Given the description of an element on the screen output the (x, y) to click on. 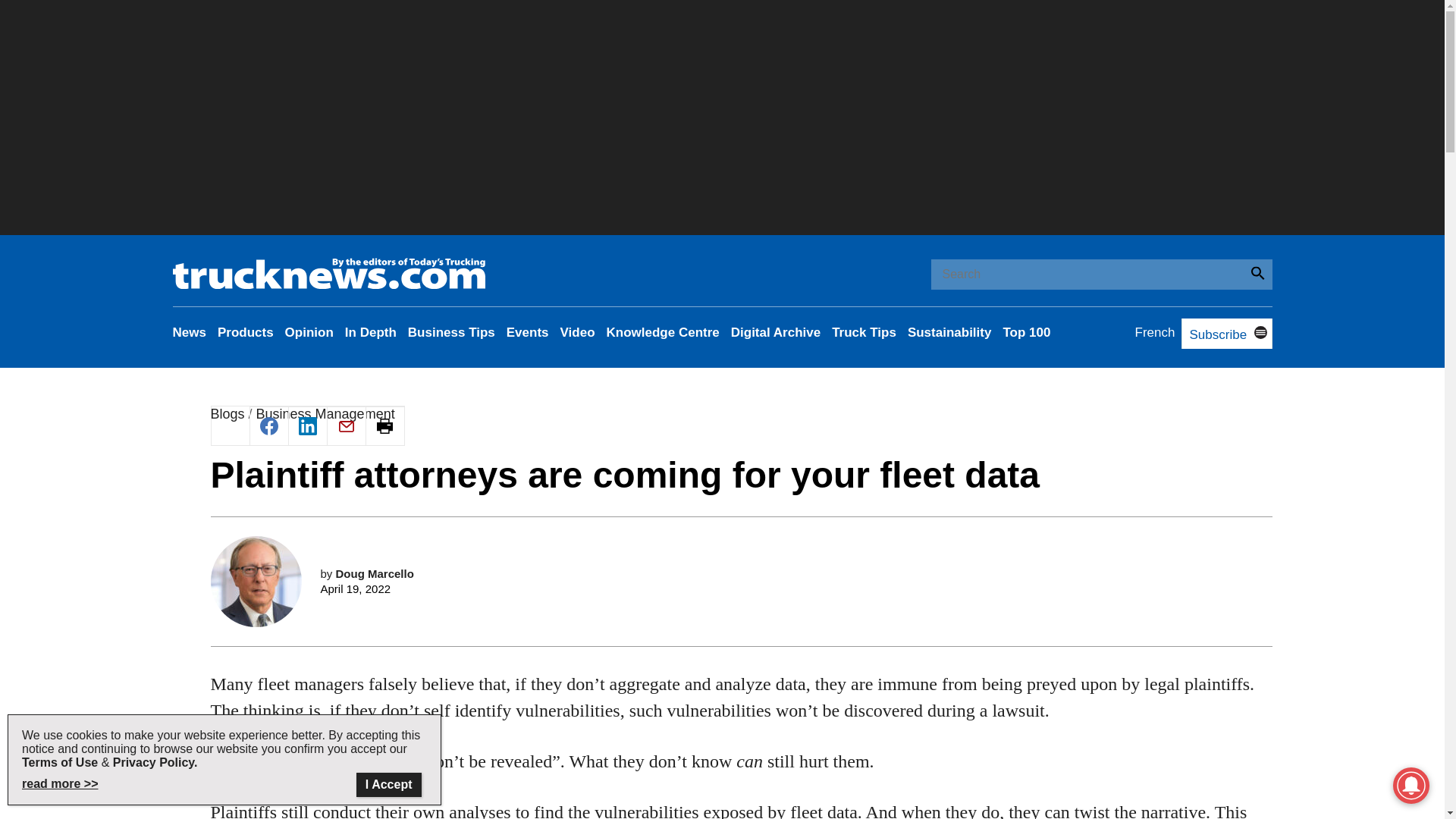
French (1154, 332)
News (189, 332)
Subscribe (1213, 334)
3rd party ad content (741, 738)
Video (577, 332)
3rd party ad content (741, 530)
Truck Tips (863, 332)
Digital Archive (775, 332)
Products (244, 332)
In Depth (370, 332)
Opinion (309, 332)
Top 100 (1026, 332)
Events (527, 332)
Sustainability (949, 332)
Business Tips (451, 332)
